Given the description of an element on the screen output the (x, y) to click on. 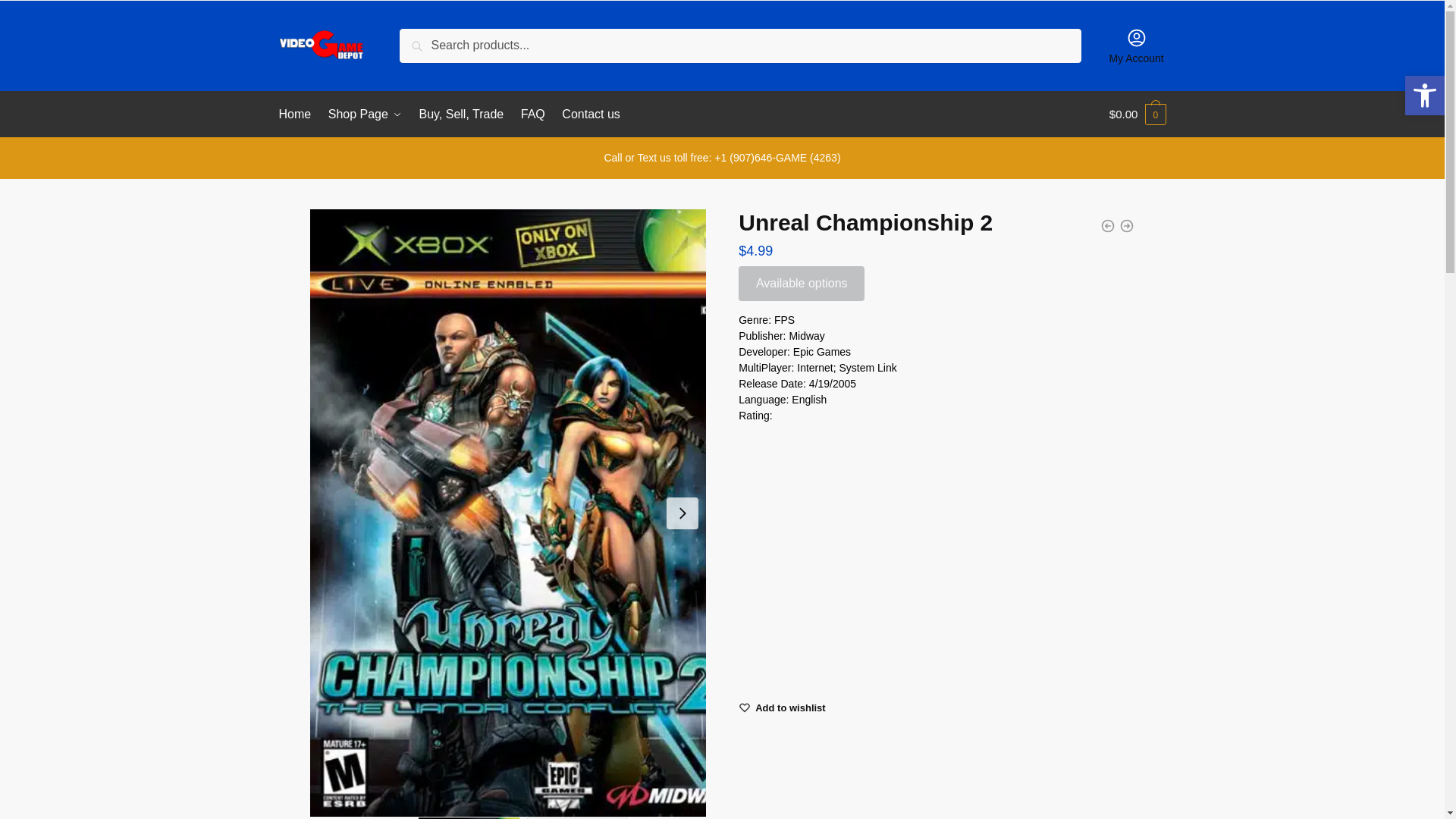
Wishlist (790, 707)
My Account (1136, 45)
Accessibility Tools (1424, 95)
View your shopping cart (1137, 114)
Shop Page (365, 114)
Unreal Championship 2: The Liandri Conflict Xbox Trailer - (936, 554)
Search (422, 38)
